Given the description of an element on the screen output the (x, y) to click on. 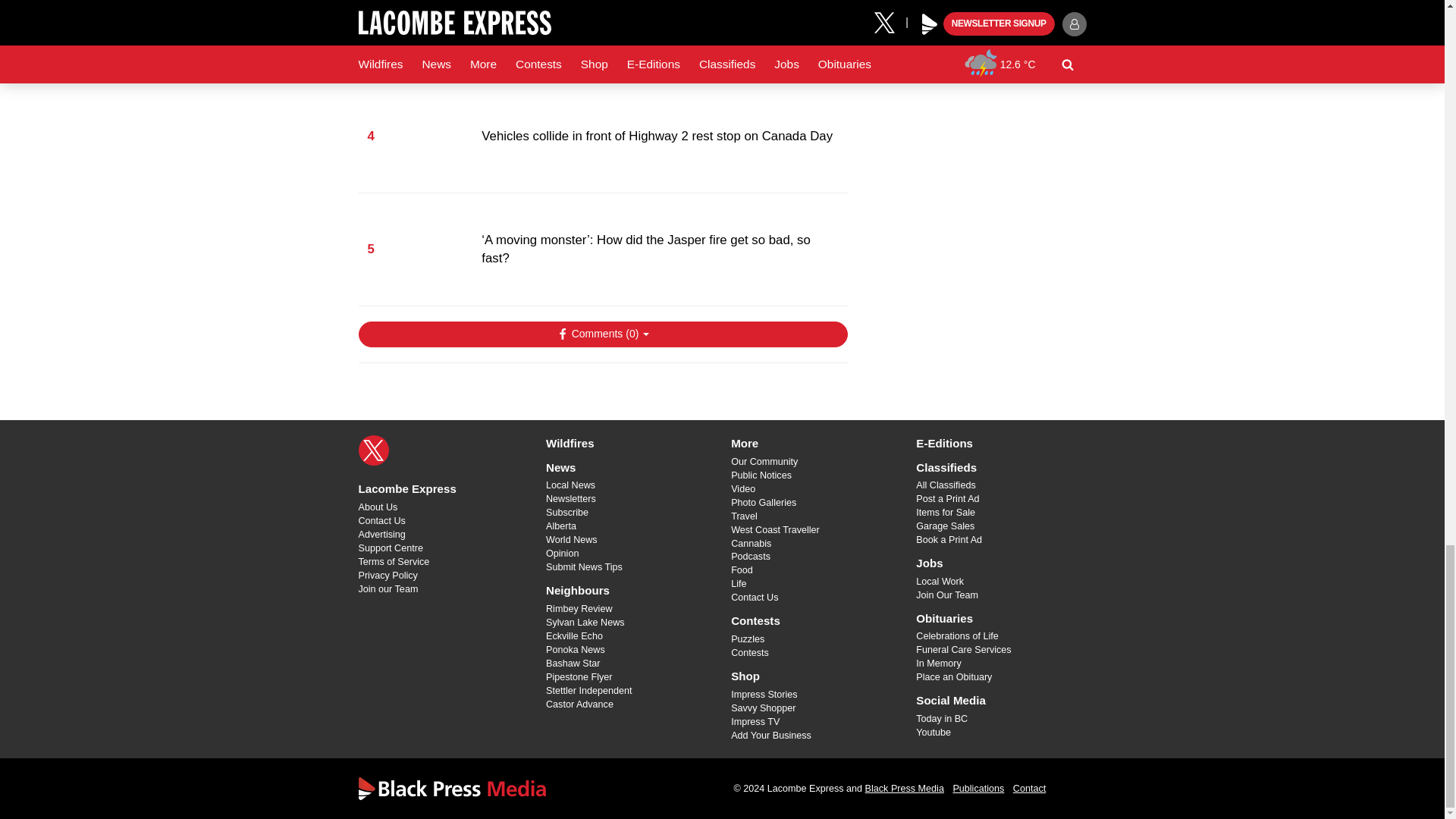
Show Comments (602, 334)
X (373, 450)
